Given the description of an element on the screen output the (x, y) to click on. 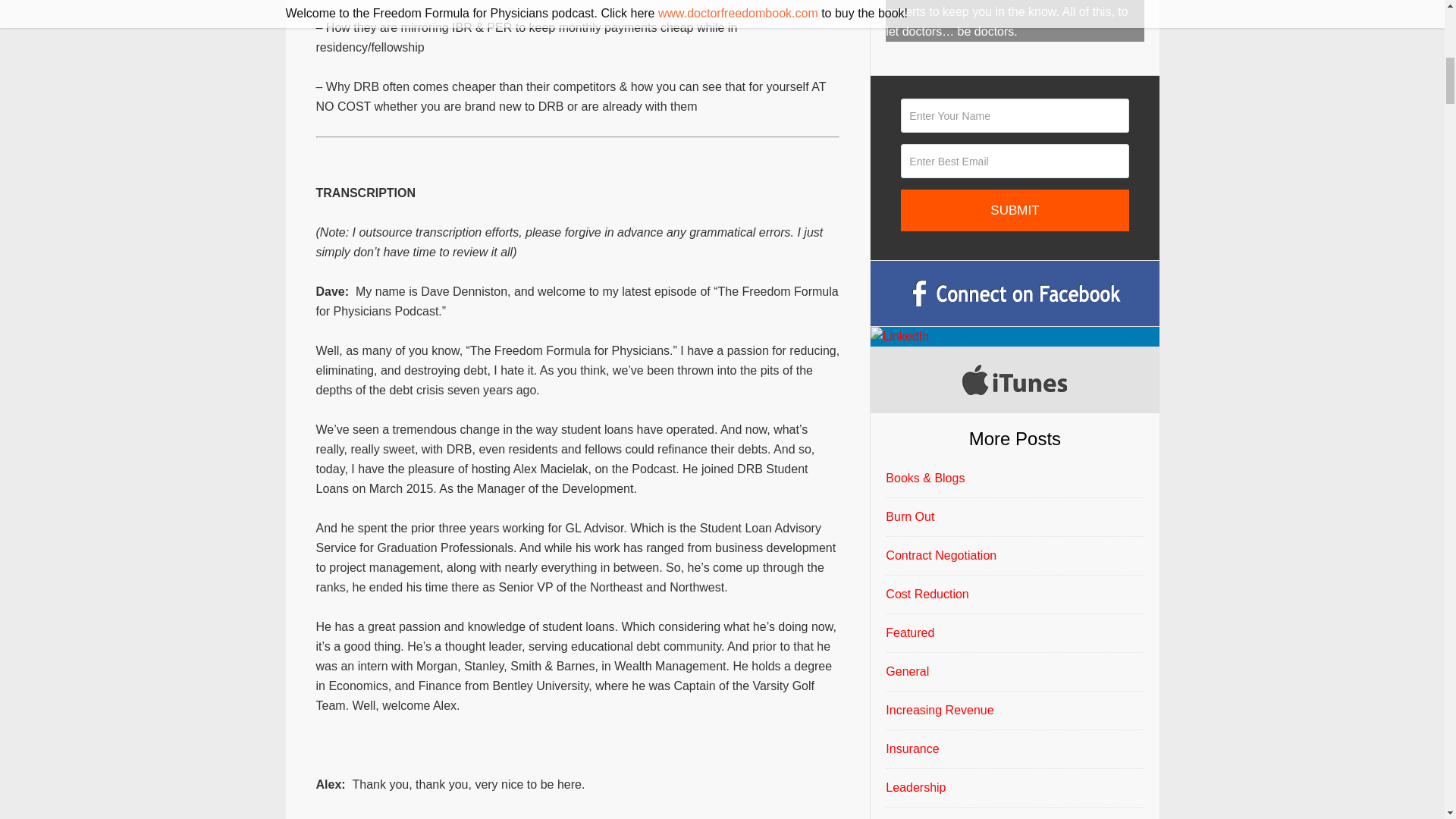
General (906, 671)
Enter Best Email (1014, 161)
Cost Reduction (926, 594)
Burn Out (909, 516)
Enter Your Name (1014, 115)
Submit (1014, 209)
Itunes (1014, 379)
Increasing Revenue (938, 709)
Contract Negotiation (940, 554)
Insurance (912, 748)
